Given the description of an element on the screen output the (x, y) to click on. 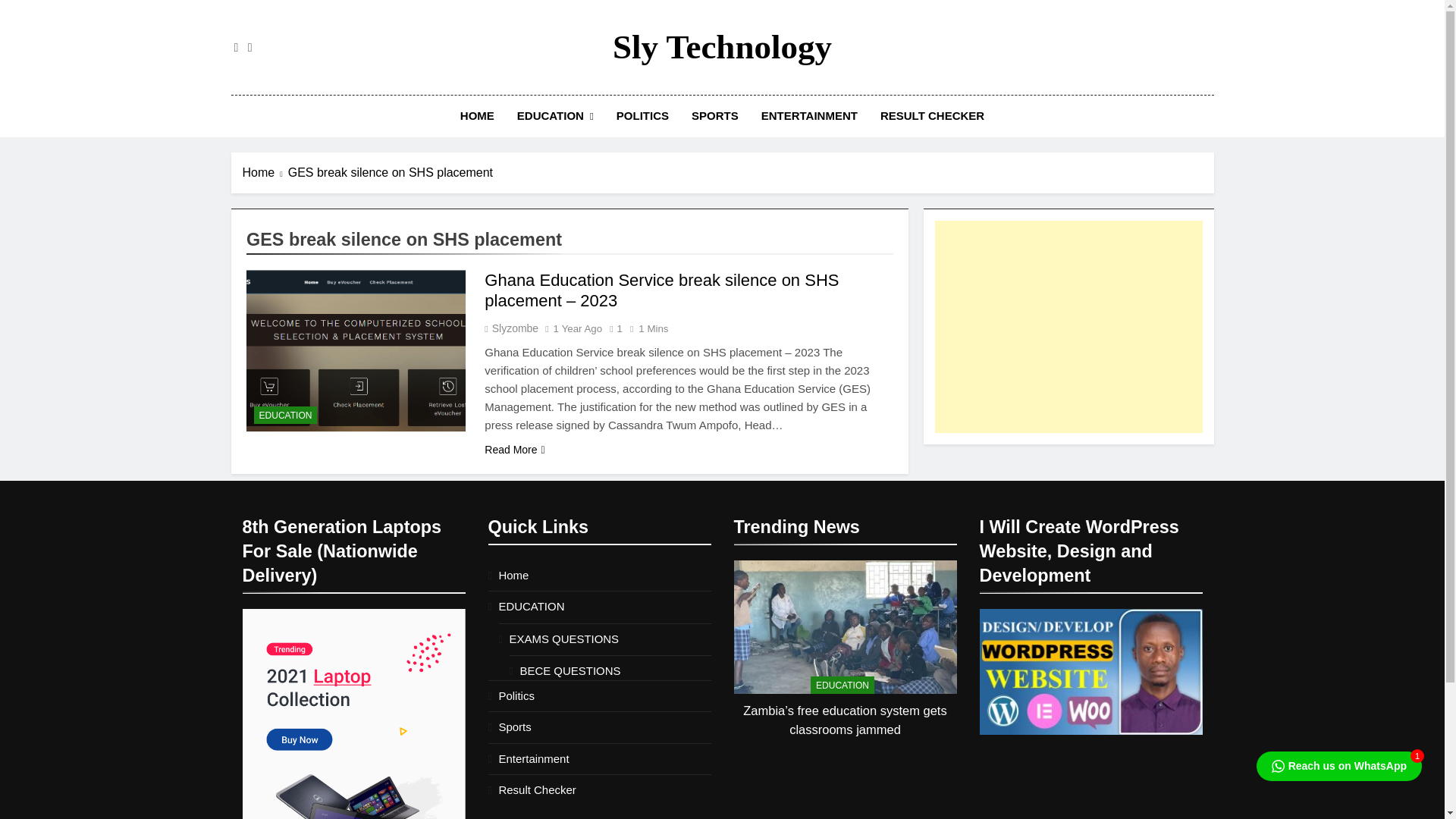
Home (514, 574)
Sports (515, 726)
HOME (476, 115)
BECE QUESTIONS (570, 670)
POLITICS (642, 115)
SPORTS (714, 115)
Result Checker (537, 789)
Slyzombe (513, 328)
1 (612, 327)
1 Year Ago (577, 328)
Entertainment (534, 758)
EDUCATION (842, 684)
Advertisement (1068, 326)
EDUCATION (285, 415)
Read More (514, 449)
